Given the description of an element on the screen output the (x, y) to click on. 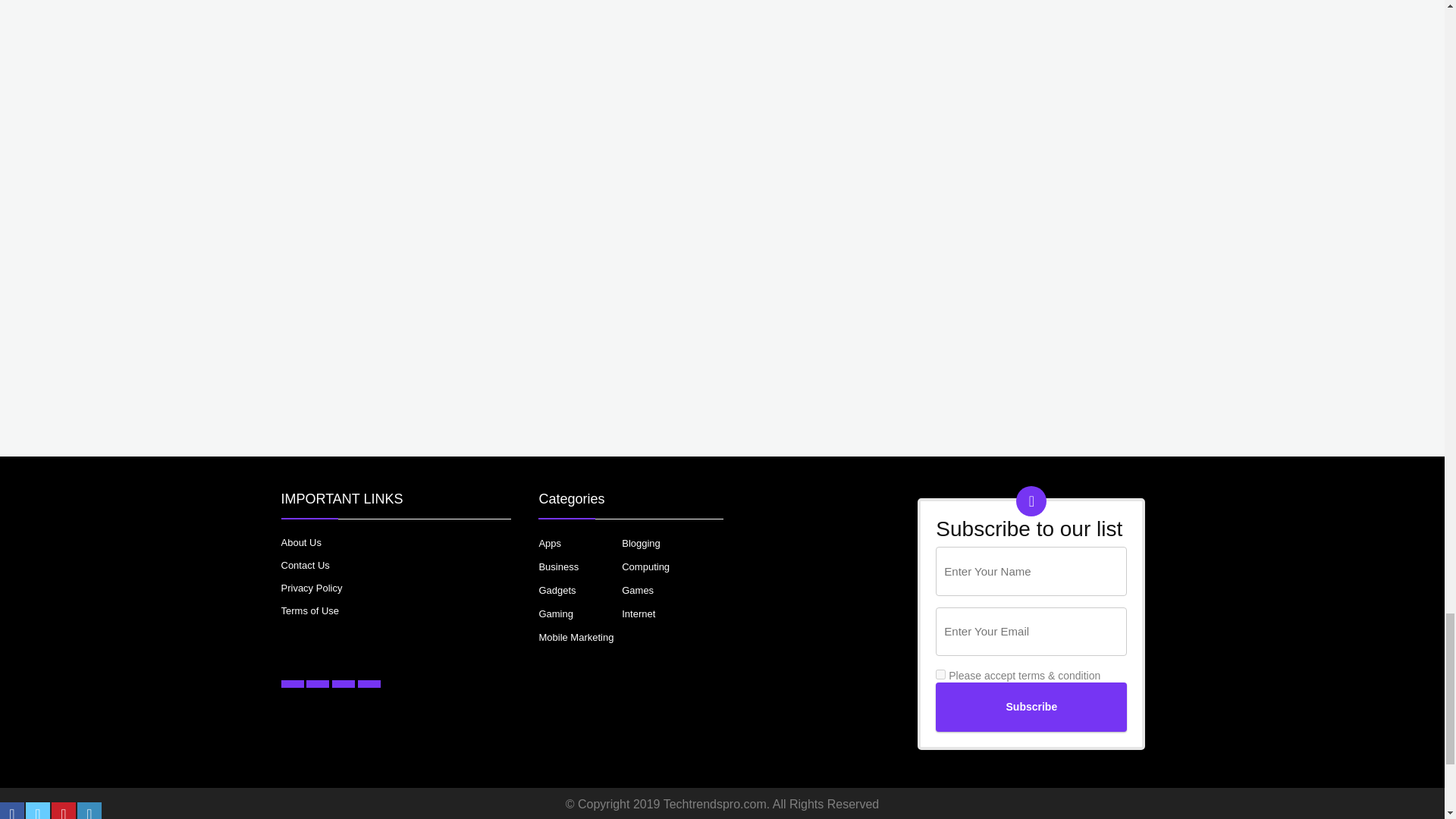
Subscribe (1031, 707)
true (940, 674)
